Given the description of an element on the screen output the (x, y) to click on. 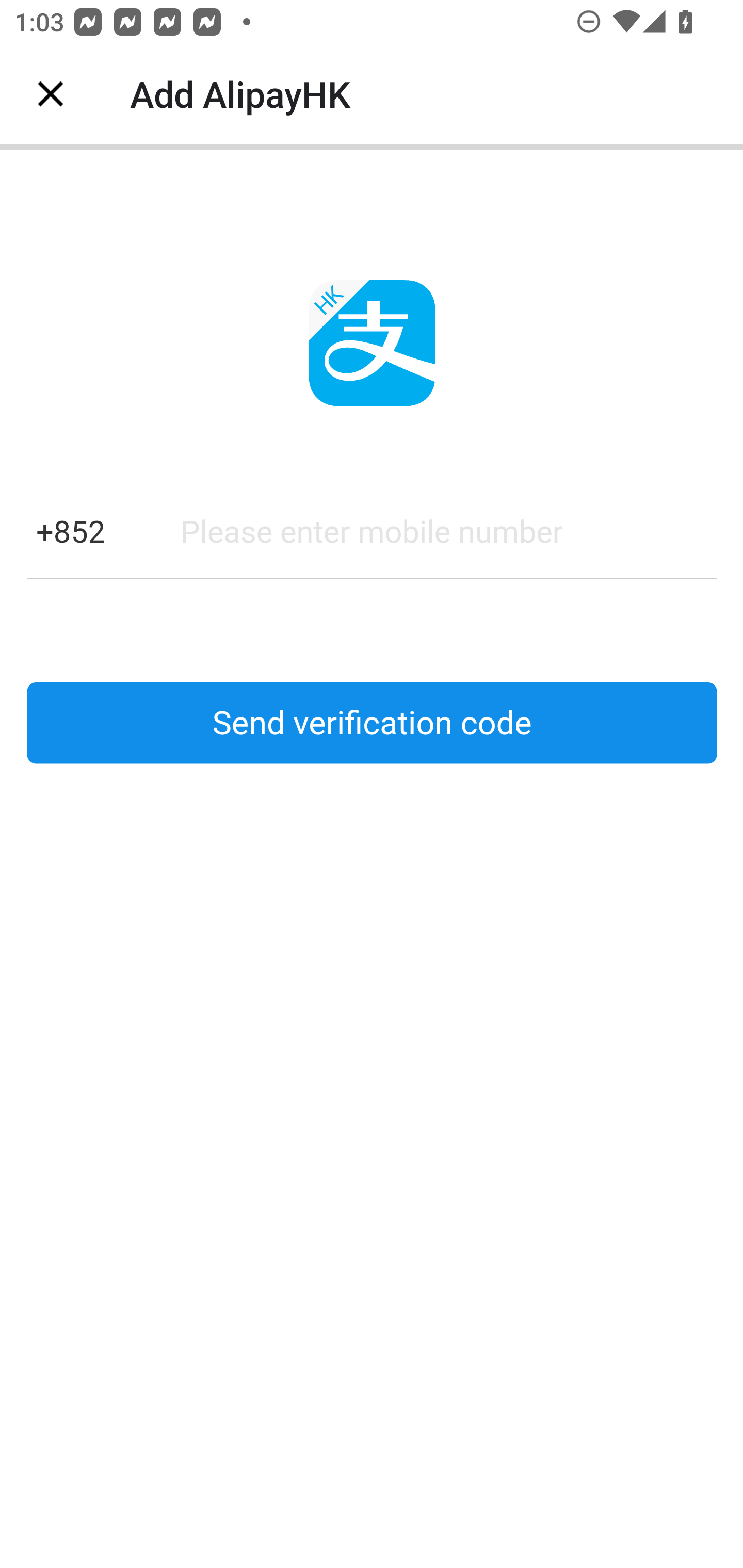
Navigate up (50, 93)
Send verification code (371, 723)
